Given the description of an element on the screen output the (x, y) to click on. 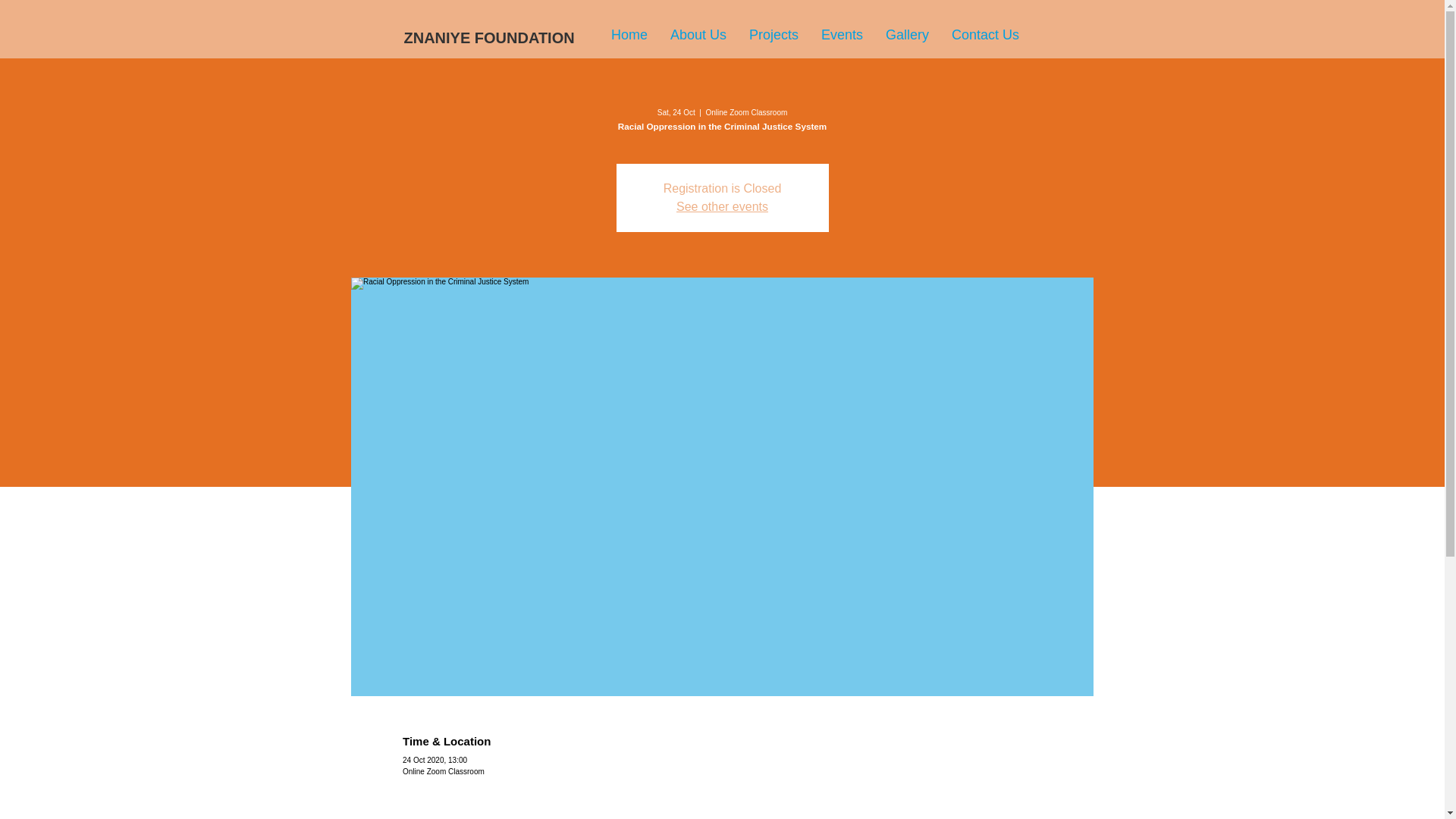
Contact Us (985, 34)
Projects (773, 34)
See other events (722, 205)
Gallery (907, 34)
Home (629, 34)
About Us (698, 34)
ZNANIYE FOUNDATION (478, 37)
Events (842, 34)
